Given the description of an element on the screen output the (x, y) to click on. 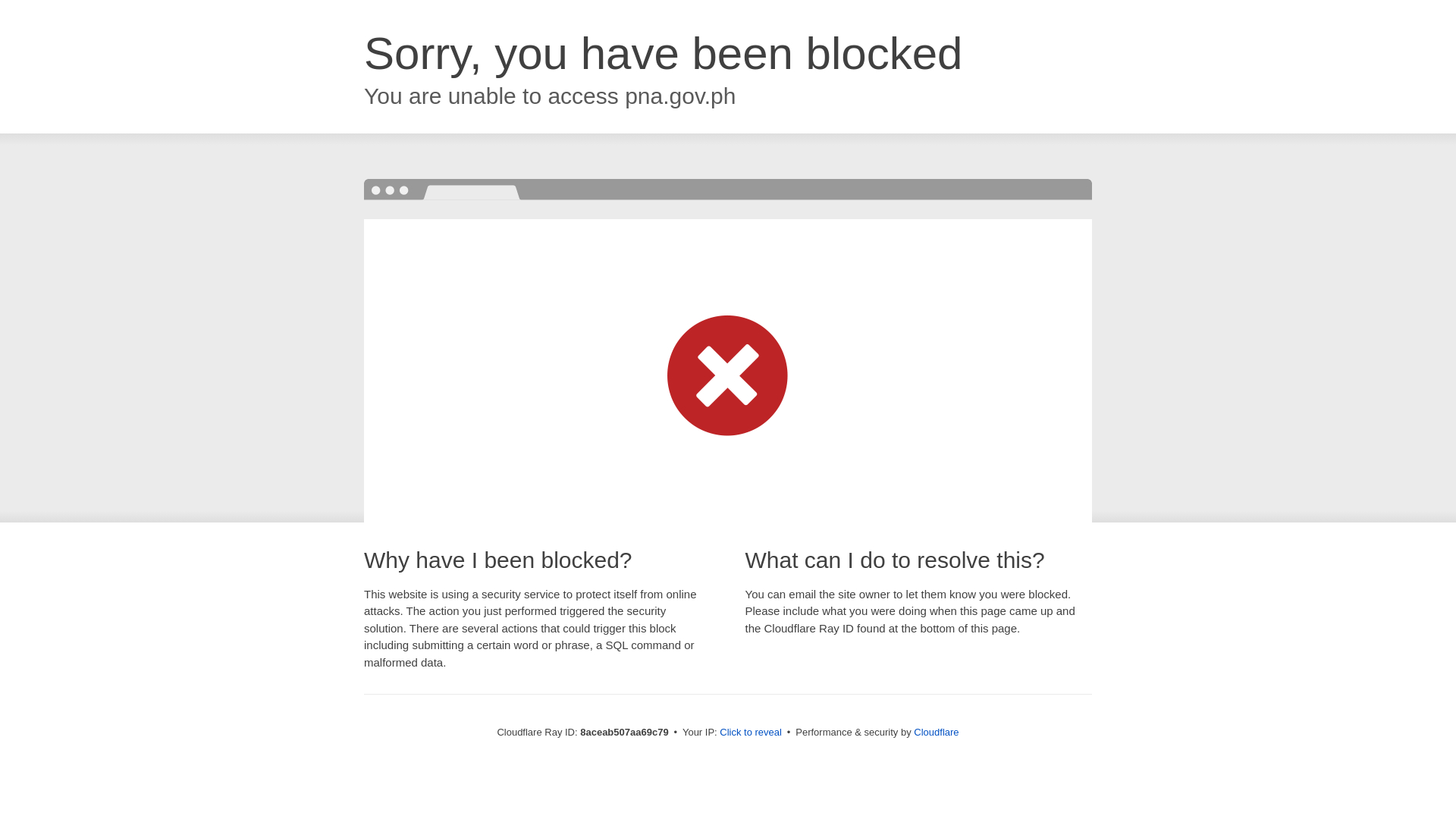
Cloudflare (936, 731)
Click to reveal (750, 732)
